Given the description of an element on the screen output the (x, y) to click on. 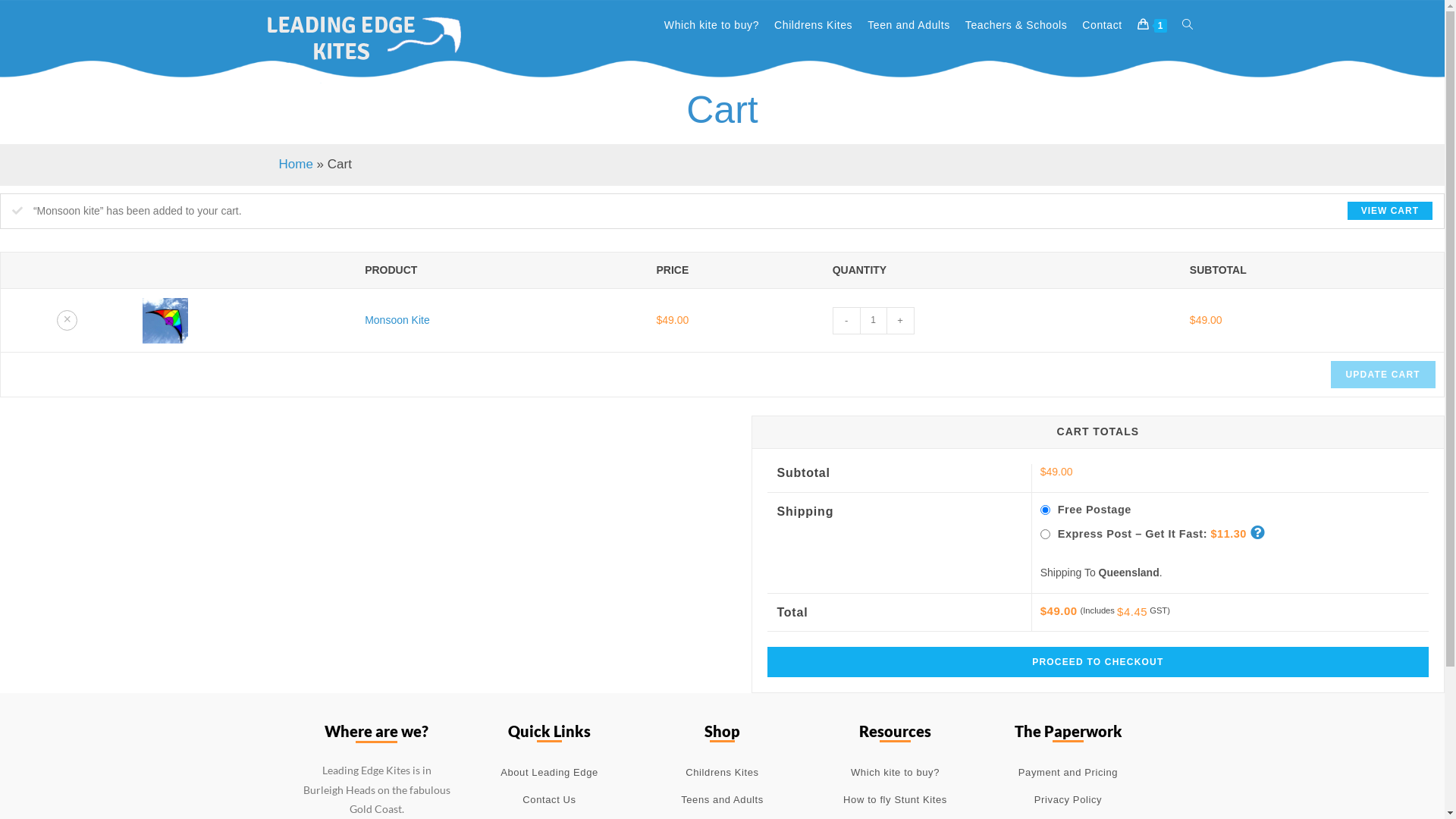
Teen and Adults Element type: text (908, 24)
+ Element type: text (900, 320)
1 Element type: text (1151, 24)
Contact Element type: text (1101, 24)
Home Element type: text (296, 163)
Monsoon Kite Element type: text (396, 319)
Which kite to buy? Element type: text (711, 24)
Teachers & Schools Element type: text (1016, 24)
Teens and Adults Element type: text (722, 799)
Childrens Kites Element type: text (721, 772)
Contact Us Element type: text (548, 799)
Payment and Pricing Element type: text (1068, 772)
Privacy Policy Element type: text (1067, 799)
How to fly Stunt Kites Element type: text (894, 799)
VIEW CART Element type: text (1389, 210)
Which kite to buy? Element type: text (894, 772)
UPDATE CART Element type: text (1382, 374)
- Element type: text (845, 320)
PROCEED TO CHECKOUT Element type: text (1097, 661)
About Leading Edge Element type: text (548, 772)
Childrens Kites Element type: text (812, 24)
